Given the description of an element on the screen output the (x, y) to click on. 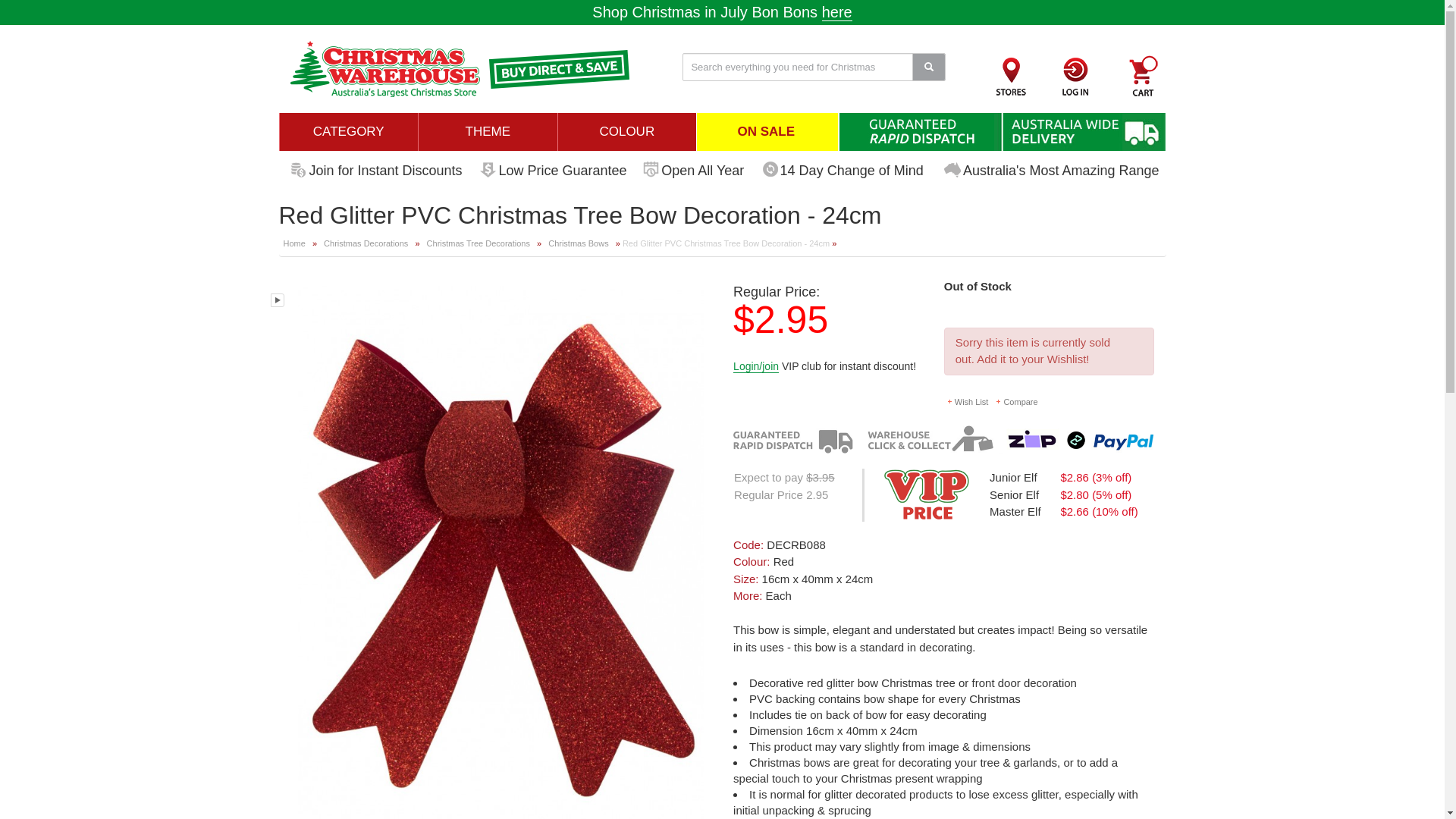
here (836, 12)
Search everything you need for Christmas (813, 67)
Search everything you need for Christmas (813, 67)
